Given the description of an element on the screen output the (x, y) to click on. 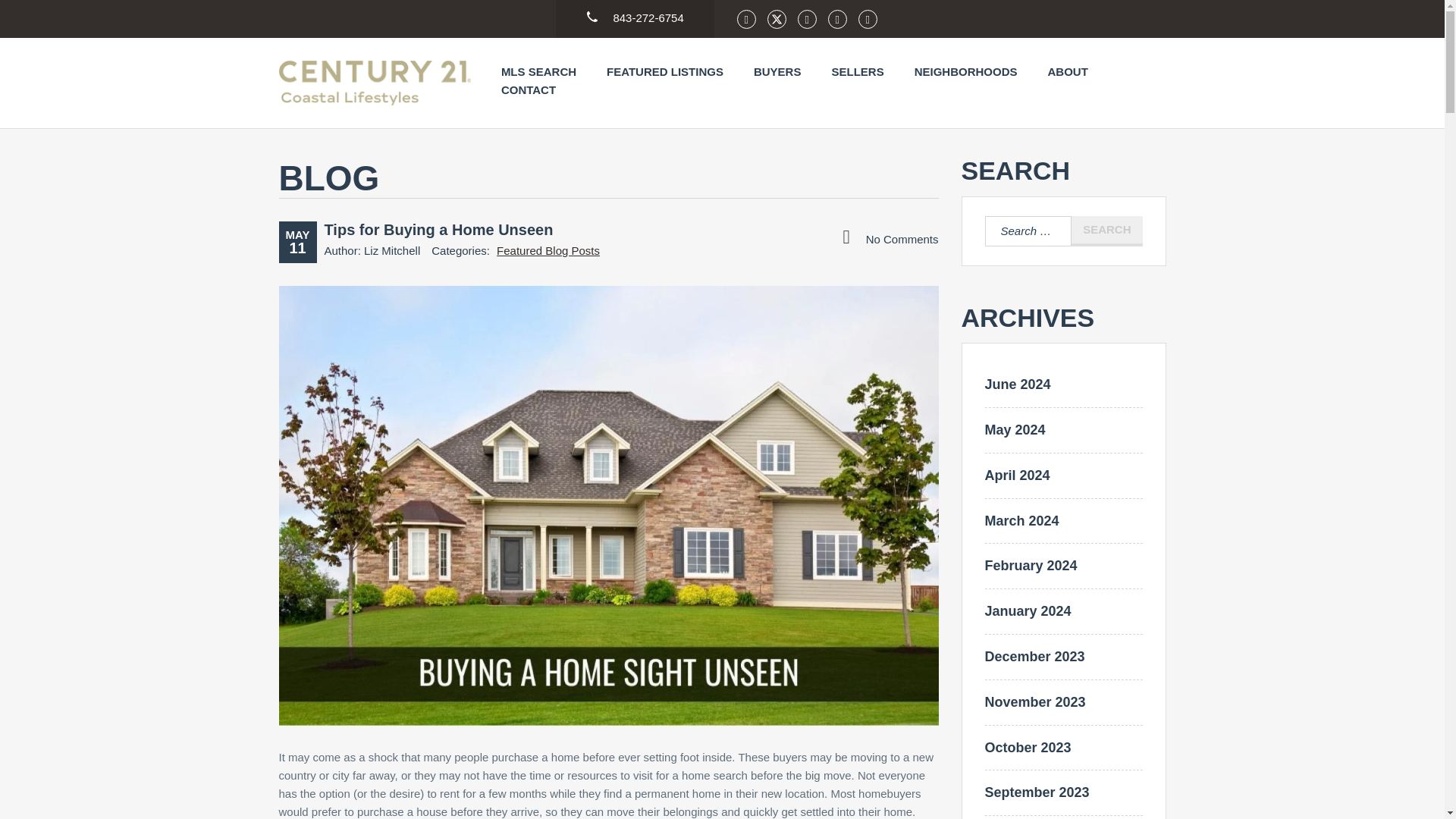
BUYERS (778, 72)
Search (1106, 231)
ABOUT (1066, 72)
CONTACT (528, 90)
Century 21 Coastal Lifestyles (374, 82)
Featured Blog Posts (547, 250)
Search (1106, 231)
SELLERS (857, 72)
Search (1106, 231)
June 2024 (1016, 384)
No Comments (891, 237)
843-272-6754 (635, 11)
MLS SEARCH (538, 72)
FEATURED LISTINGS (665, 72)
Tips for Buying a Home Unseen (438, 229)
